Given the description of an element on the screen output the (x, y) to click on. 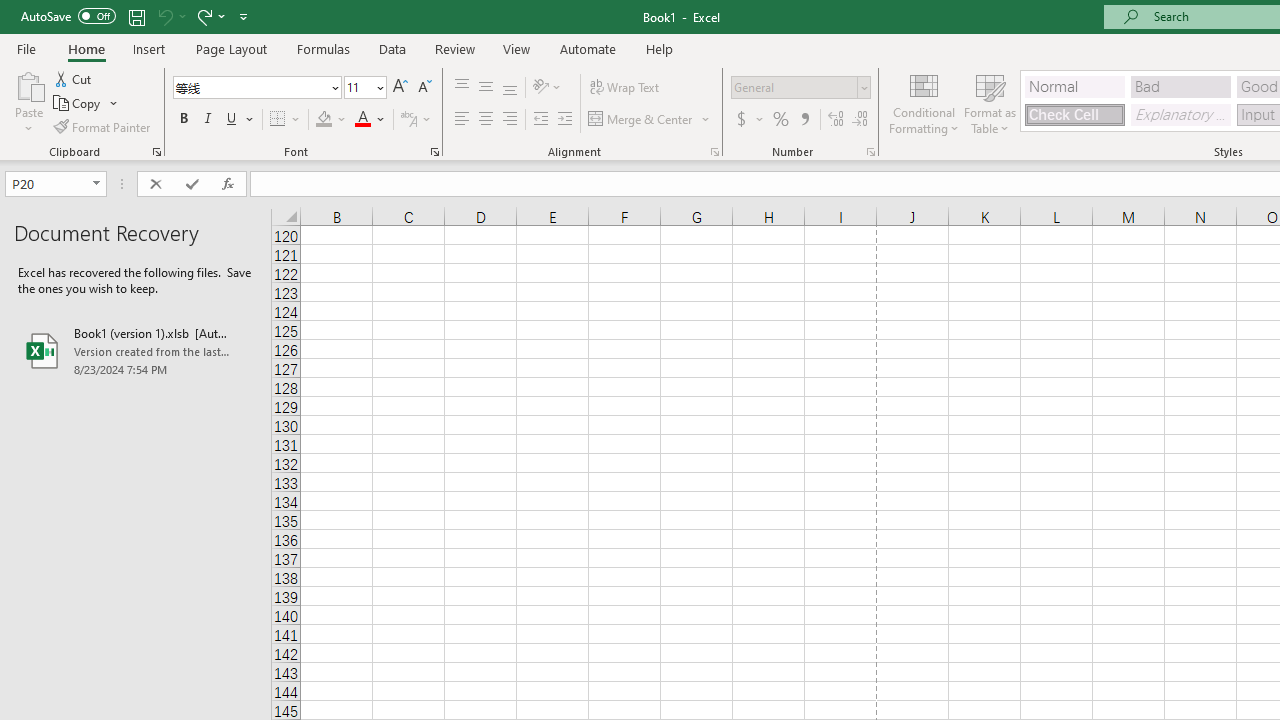
Orientation (547, 87)
Italic (207, 119)
Merge & Center (641, 119)
Format Cell Alignment (714, 151)
Conditional Formatting (924, 102)
Decrease Decimal (859, 119)
Comma Style (804, 119)
Bottom Border (278, 119)
Accounting Number Format (749, 119)
Paste (28, 84)
Number Format (794, 87)
Increase Indent (565, 119)
Align Left (461, 119)
